Given the description of an element on the screen output the (x, y) to click on. 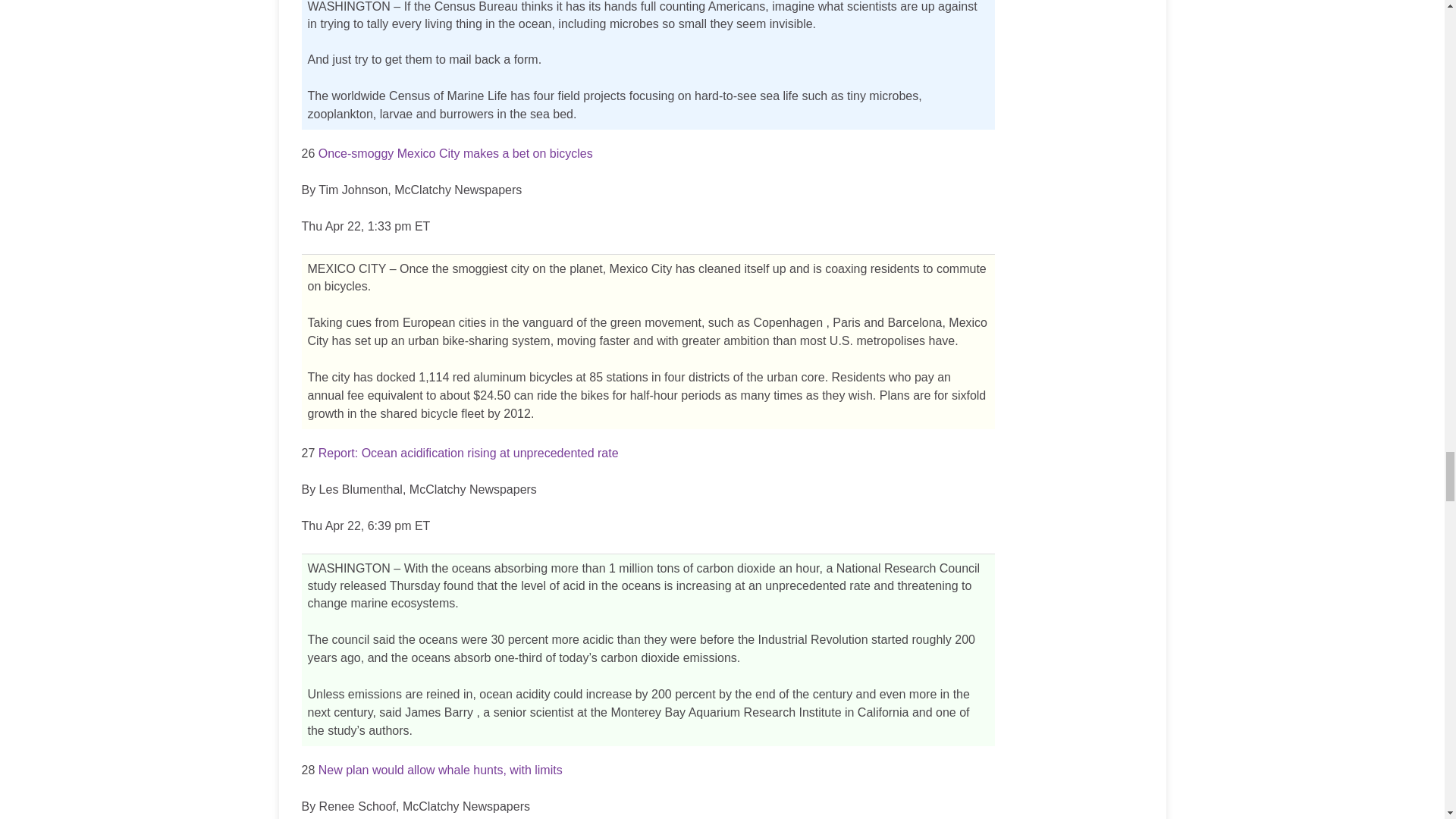
Report: Ocean acidification rising at unprecedented rate (468, 452)
Once-smoggy Mexico City makes a bet on bicycles (455, 153)
New plan would allow whale hunts, with limits (440, 769)
